Given the description of an element on the screen output the (x, y) to click on. 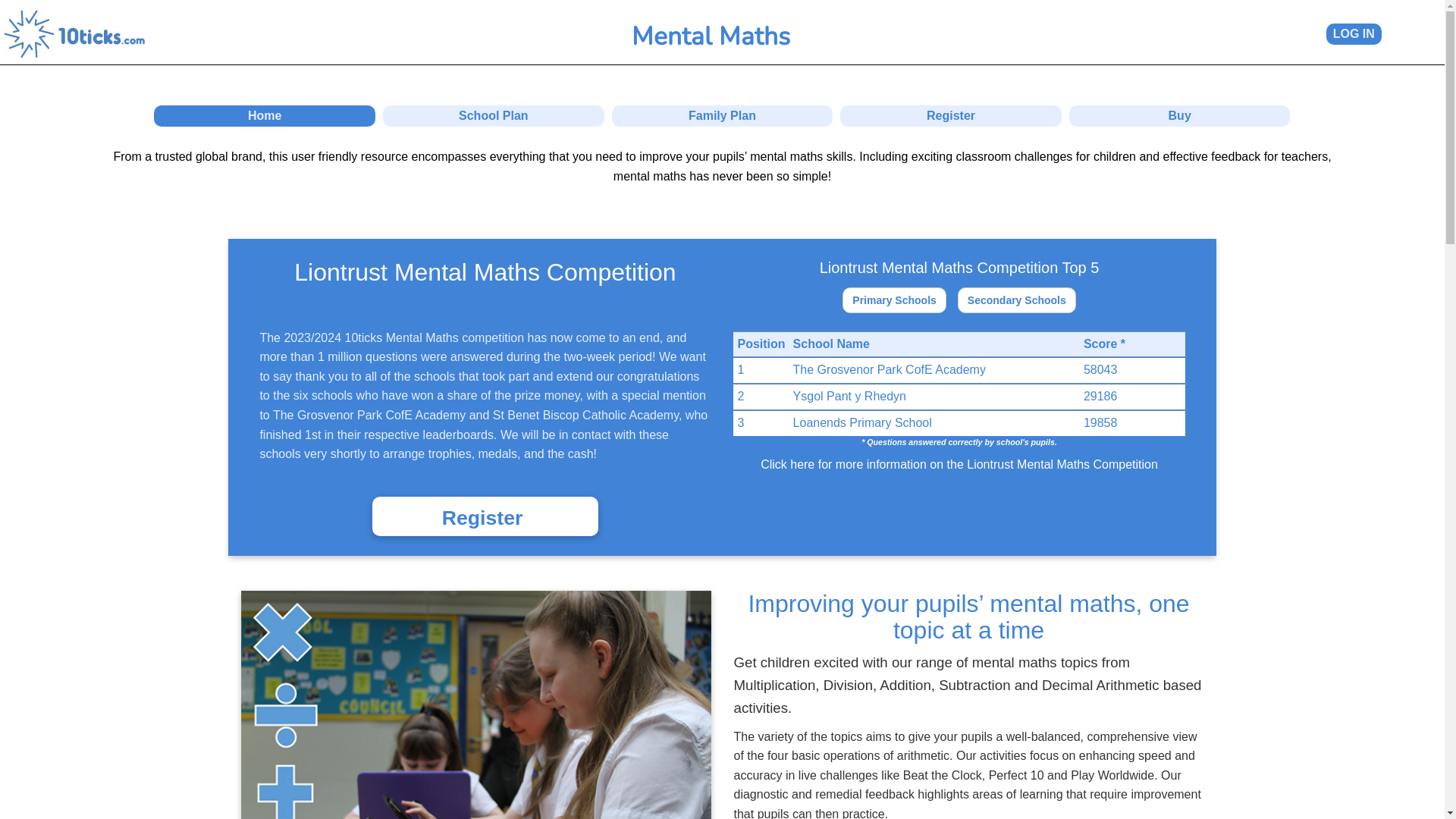
Family Plan Element type: text (722, 115)
Buy Element type: text (1179, 115)
Register  Element type: text (485, 516)
Secondary Schools Element type: text (1016, 300)
School Plan Element type: text (493, 115)
Mental Maths Element type: text (710, 40)
Primary Schools Element type: text (894, 300)
LOG IN Element type: text (1353, 33)
Register Element type: text (950, 115)
Home Element type: text (264, 115)
